Given the description of an element on the screen output the (x, y) to click on. 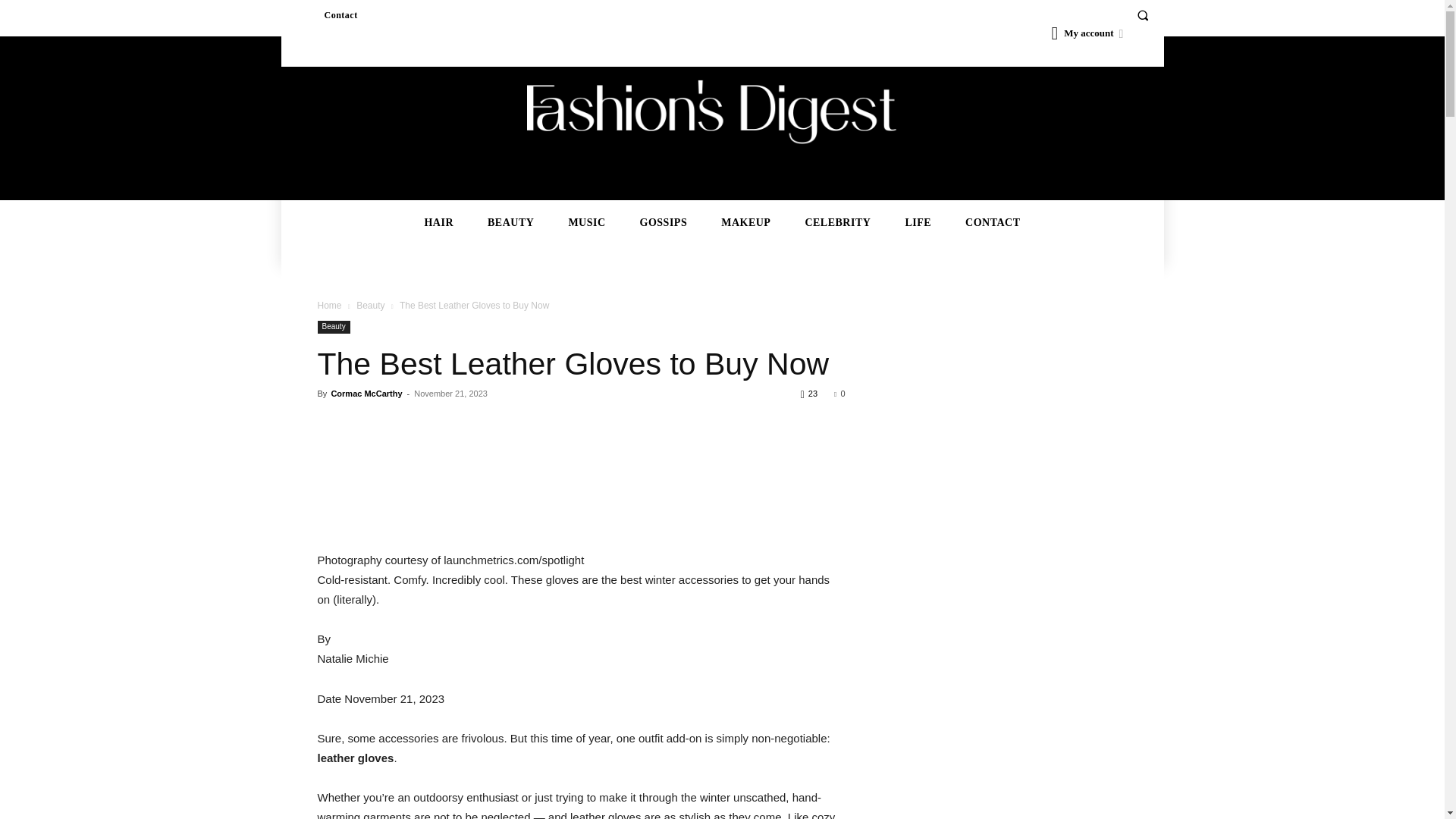
MAKEUP (745, 222)
CONTACT (991, 222)
GOSSIPS (663, 222)
Contact (340, 15)
View all posts in Beauty (370, 305)
Beauty (370, 305)
CELEBRITY (837, 222)
LIFE (917, 222)
BEAUTY (510, 222)
MUSIC (585, 222)
